Given the description of an element on the screen output the (x, y) to click on. 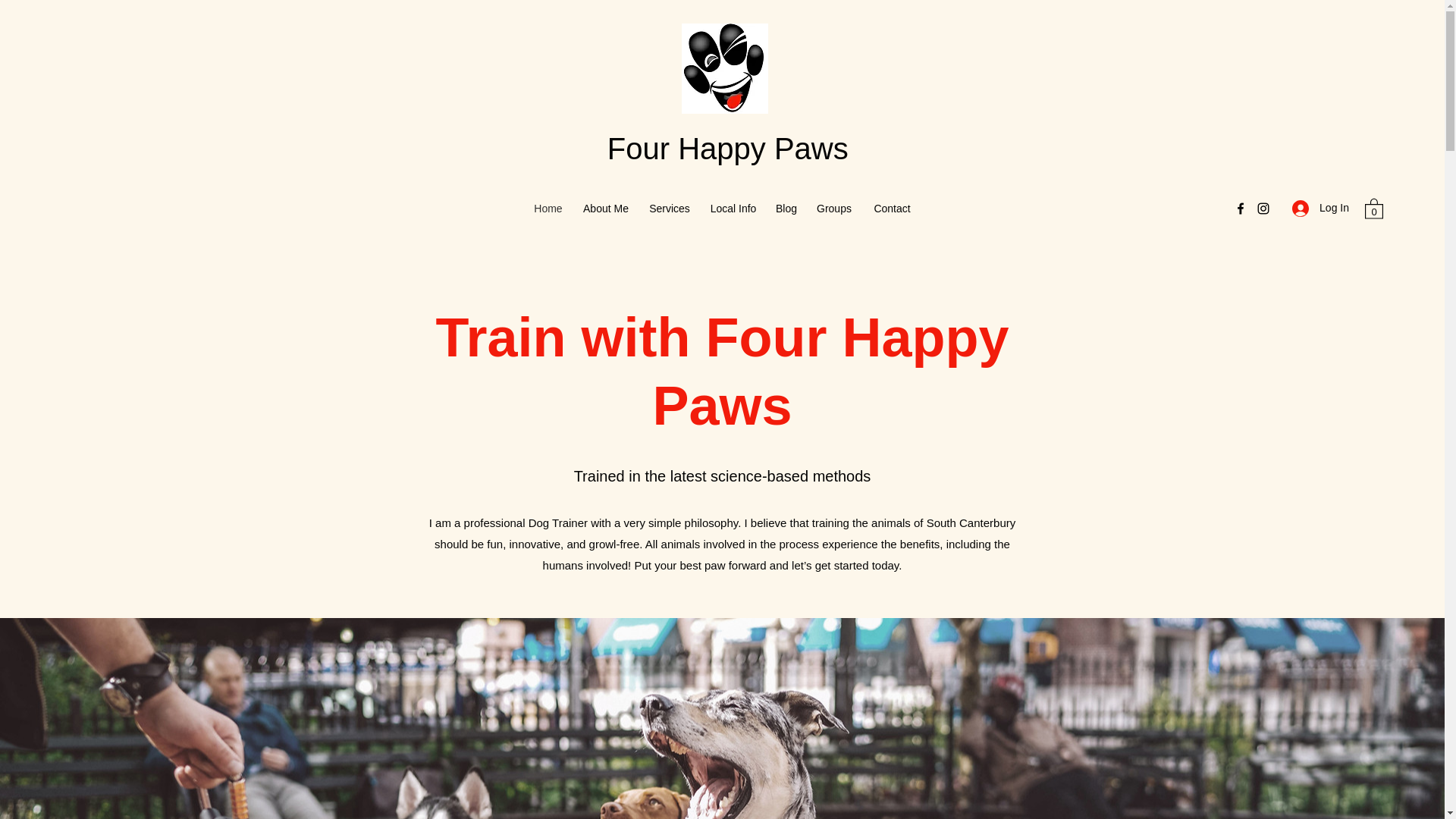
Contact (891, 208)
Local Info (733, 208)
Services (669, 208)
Blog (786, 208)
Visitor Analytics (727, 172)
Four Happy Paws (727, 148)
About Me (605, 208)
Home (548, 208)
Groups (833, 208)
Log In (1320, 207)
